Given the description of an element on the screen output the (x, y) to click on. 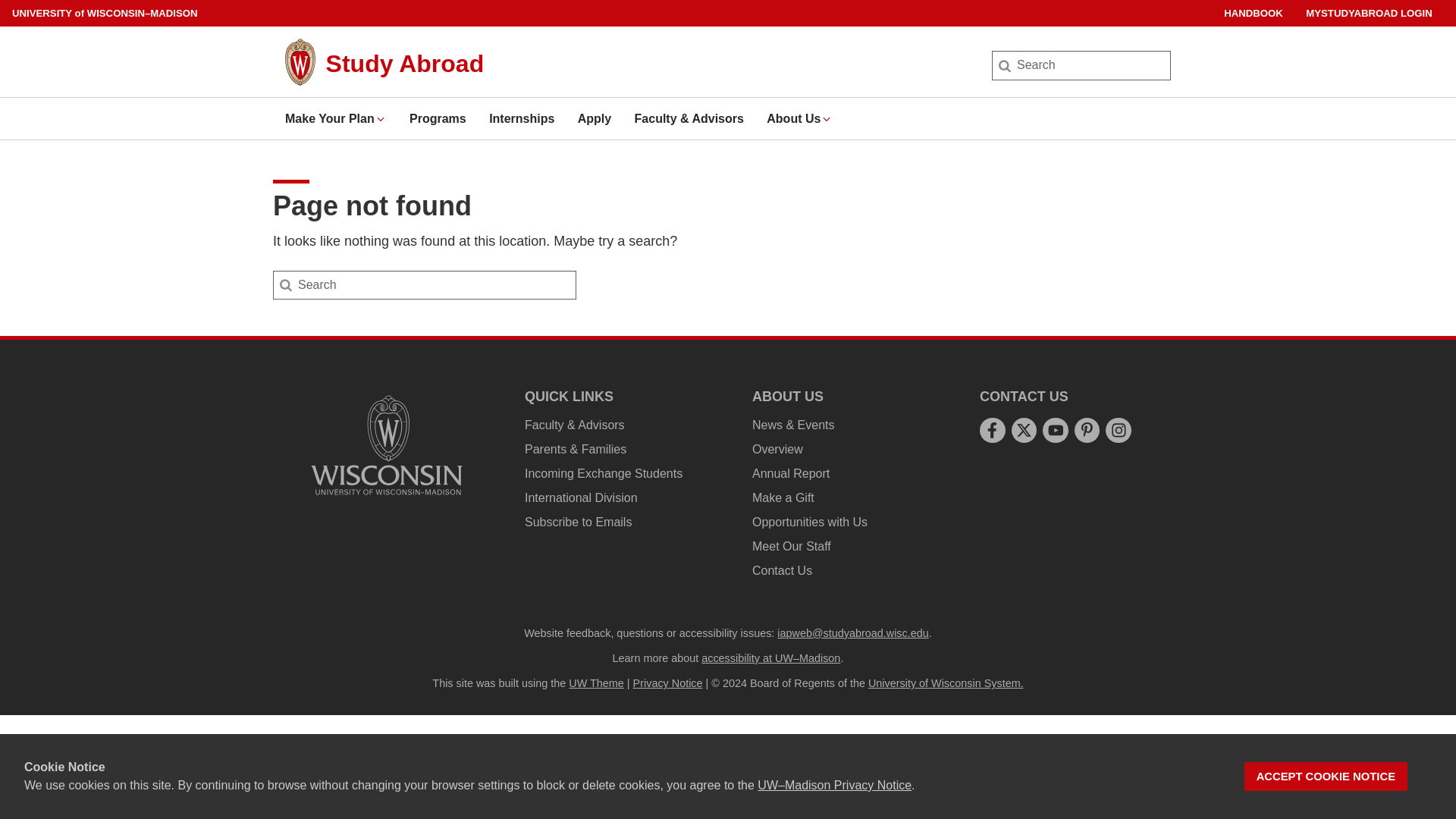
University logo that links to main university website (387, 445)
Apply (594, 118)
Programs (437, 118)
instagram (1118, 430)
Internships (521, 118)
Search (37, 16)
youtube (1056, 430)
x twitter (1024, 430)
pinterest (1086, 430)
MYSTUDYABROAD LOGIN (1369, 13)
facebook (992, 430)
Expand (826, 119)
About Us Expand (799, 118)
International Division (580, 497)
HANDBOOK (1253, 13)
